Given the description of an element on the screen output the (x, y) to click on. 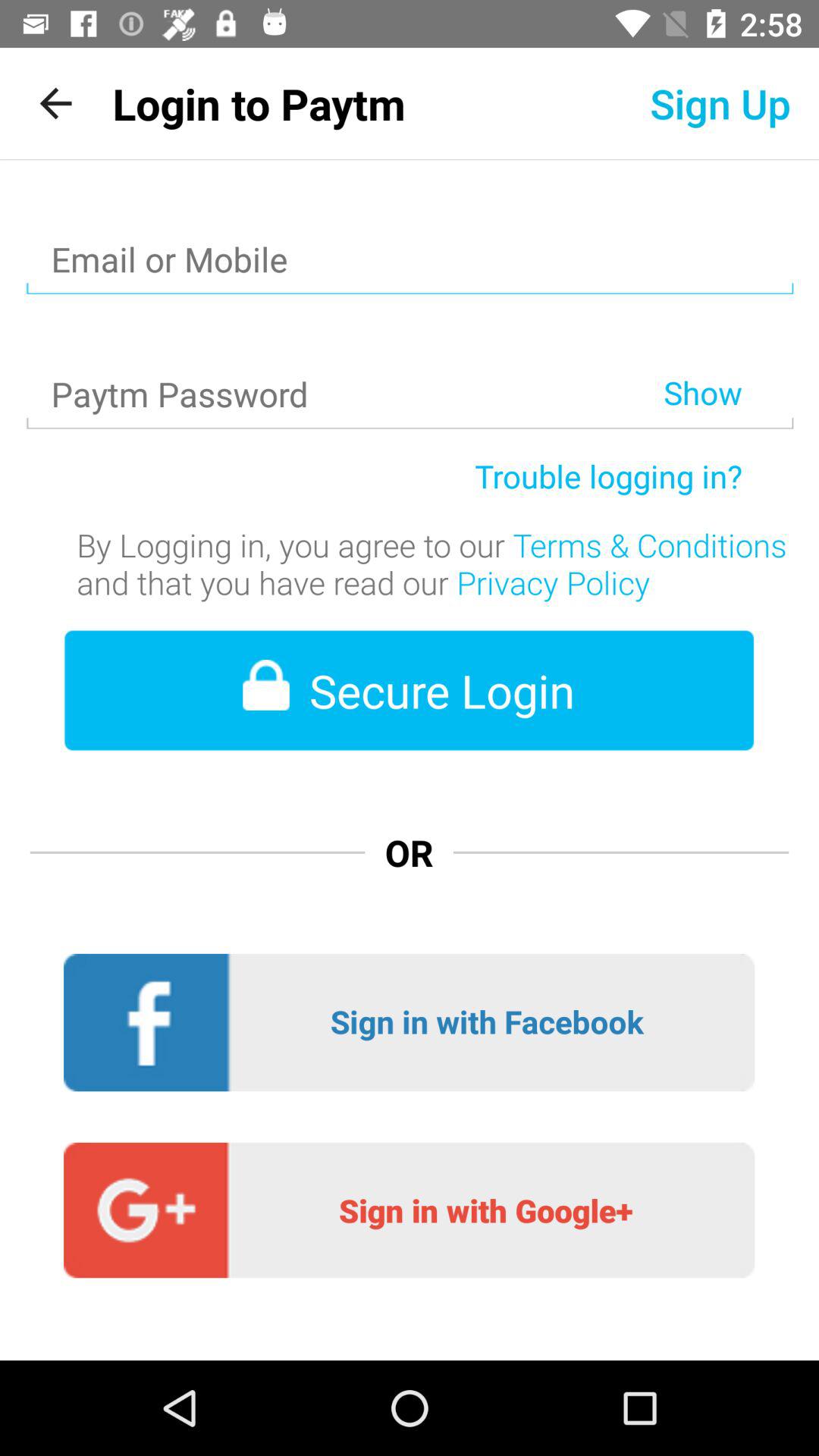
open item next to the show item (344, 355)
